Given the description of an element on the screen output the (x, y) to click on. 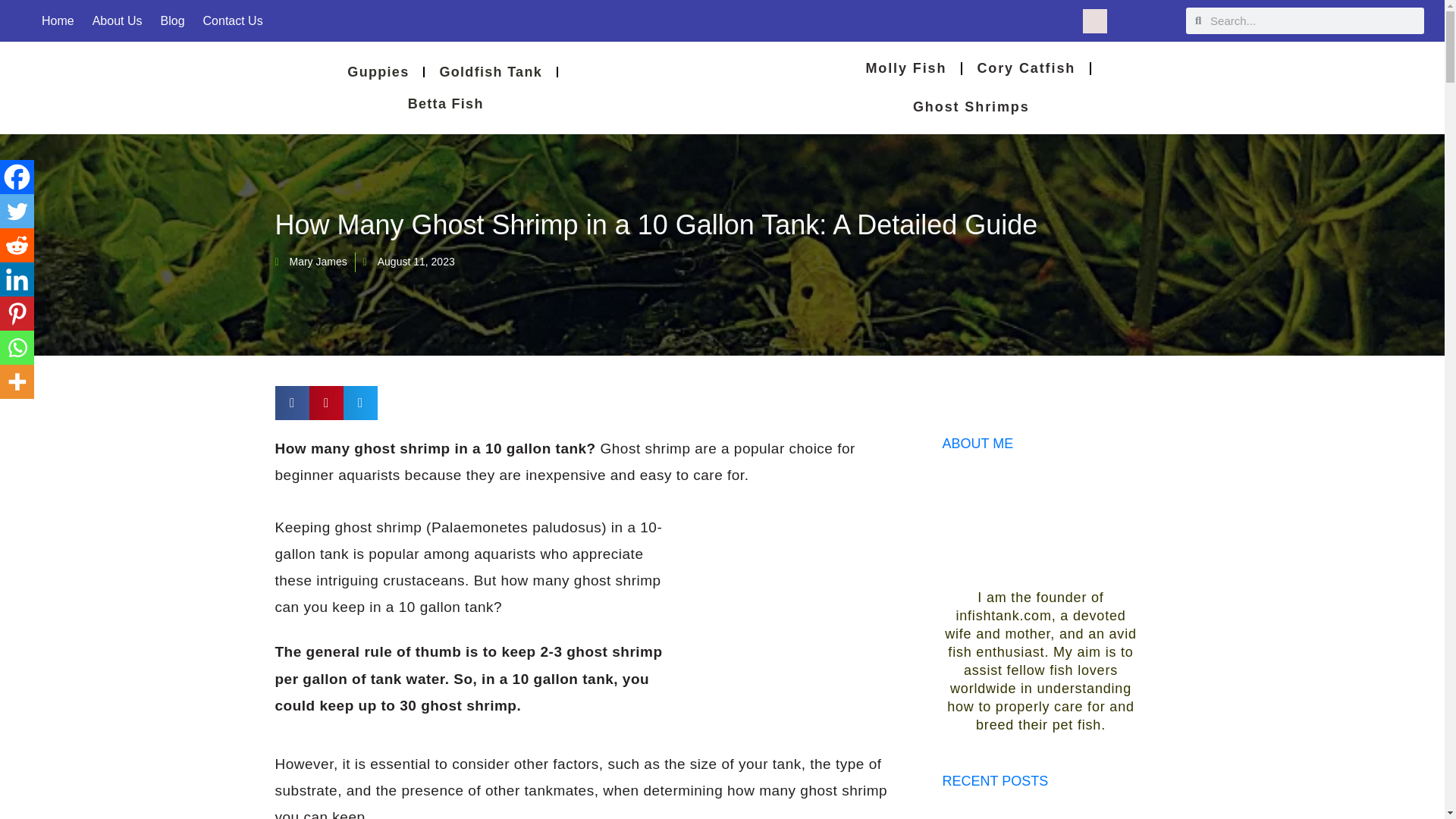
August 11, 2023 (408, 261)
Mary James (310, 261)
Pinterest (16, 313)
Molly Fish (905, 68)
Twitter (16, 211)
Cory Catfish (1025, 68)
Guppies (378, 71)
More (16, 381)
Ghost Shrimps (970, 106)
Whatsapp (16, 347)
